Given the description of an element on the screen output the (x, y) to click on. 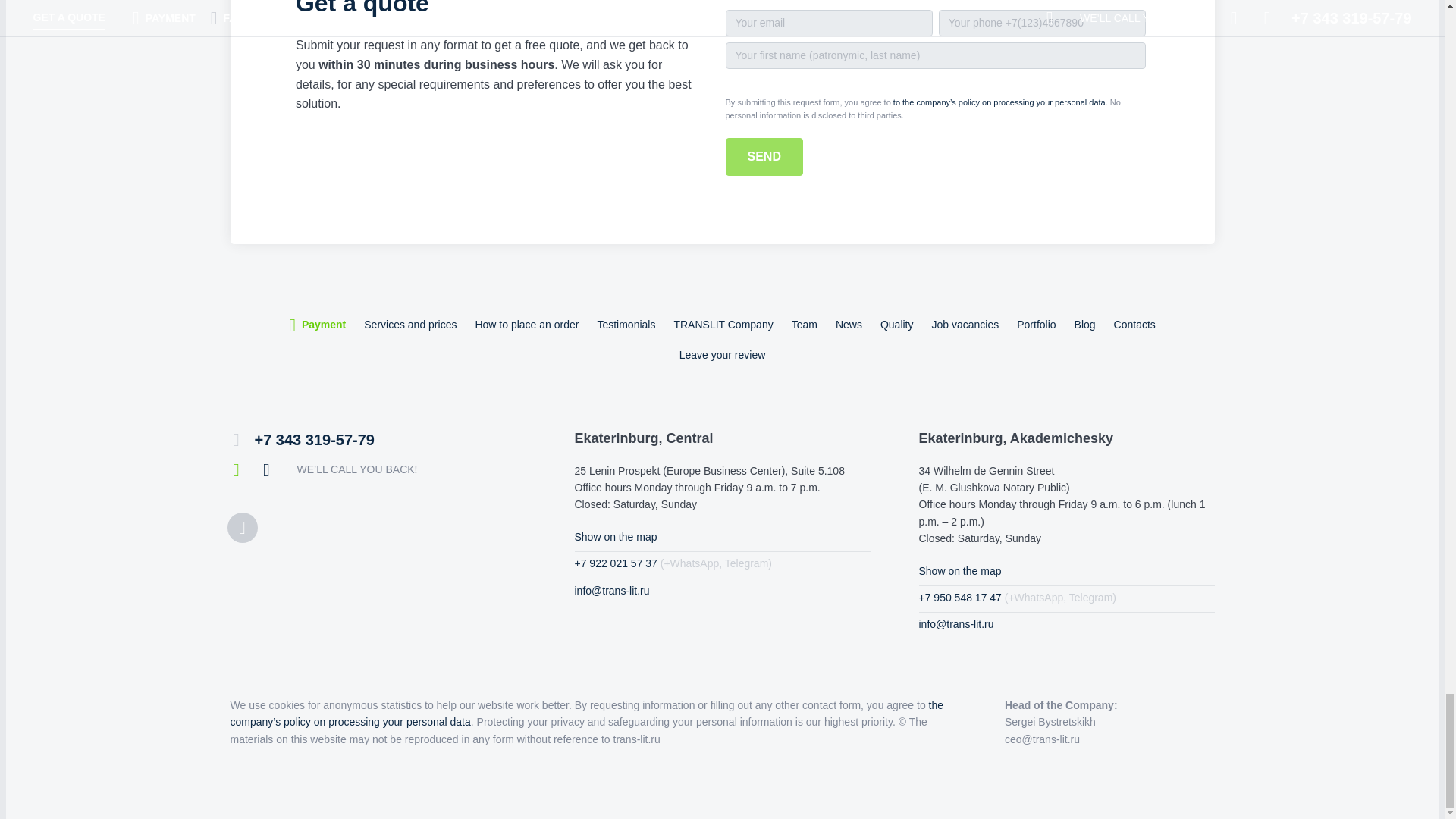
telegram (266, 470)
whatsapp (236, 470)
